Given the description of an element on the screen output the (x, y) to click on. 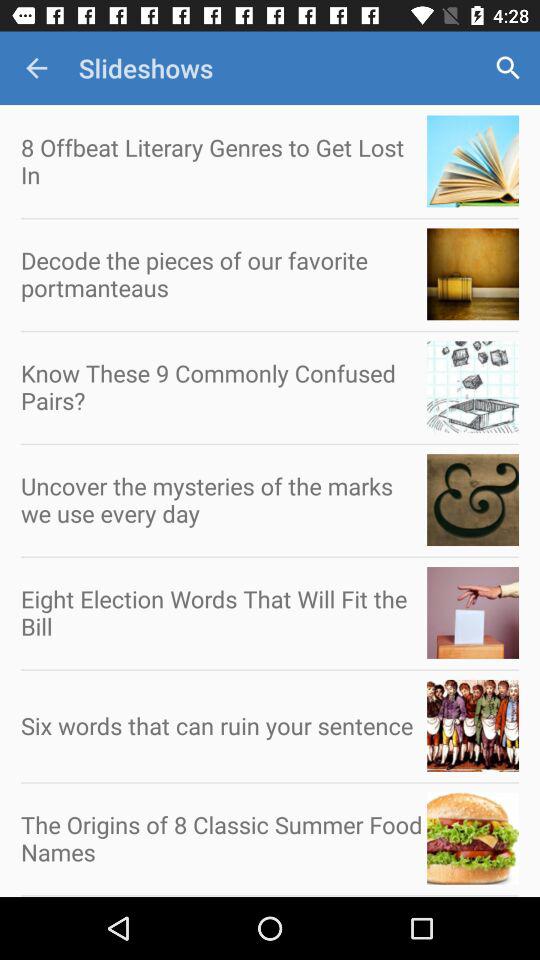
turn on app to the left of the slideshows (36, 68)
